Given the description of an element on the screen output the (x, y) to click on. 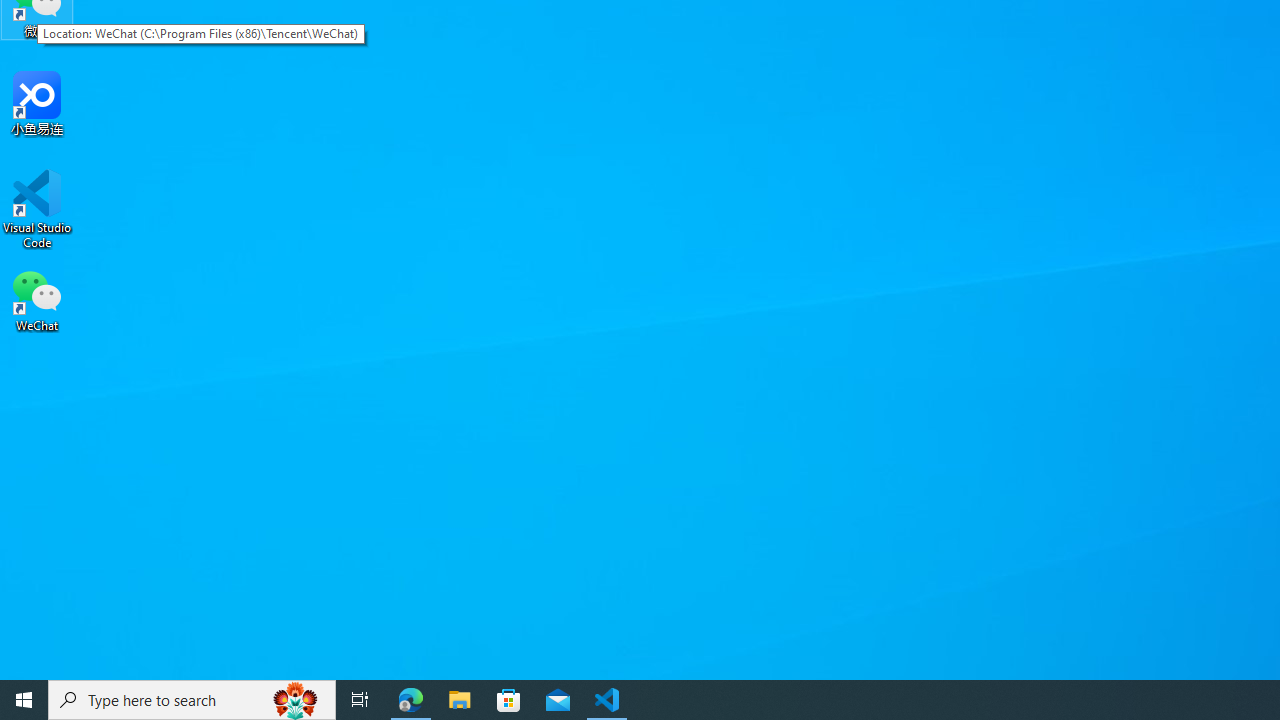
Microsoft Edge - 1 running window (411, 699)
WeChat (37, 299)
Visual Studio Code (37, 209)
